Given the description of an element on the screen output the (x, y) to click on. 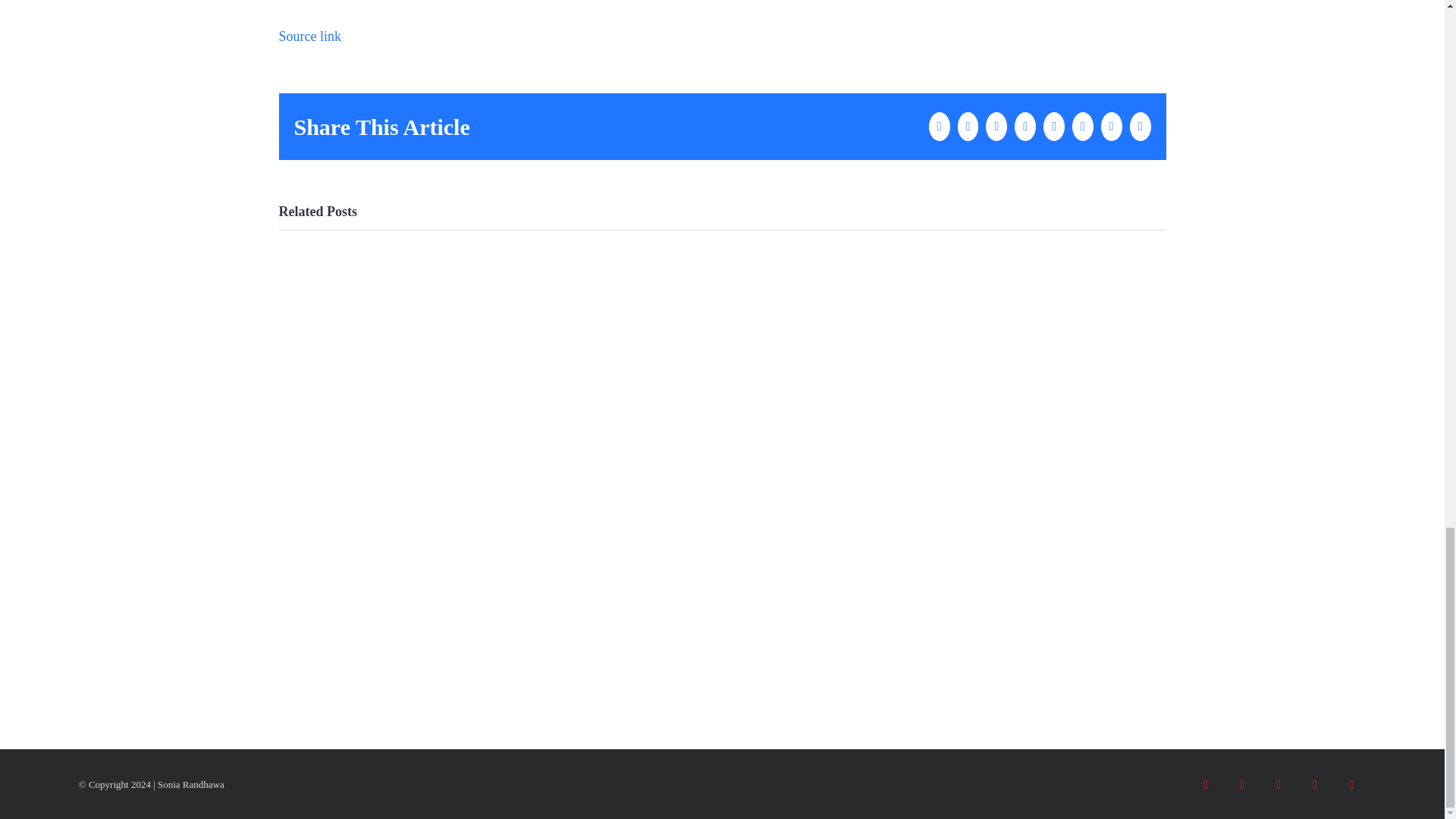
Pinterest (1350, 784)
Instagram (1277, 784)
Instagram (1277, 784)
Facebook (1205, 784)
LinkedIn (1314, 784)
Twitter (1241, 784)
LinkedIn (1314, 784)
Twitter (1241, 784)
Facebook (1205, 784)
Source link (310, 36)
